Given the description of an element on the screen output the (x, y) to click on. 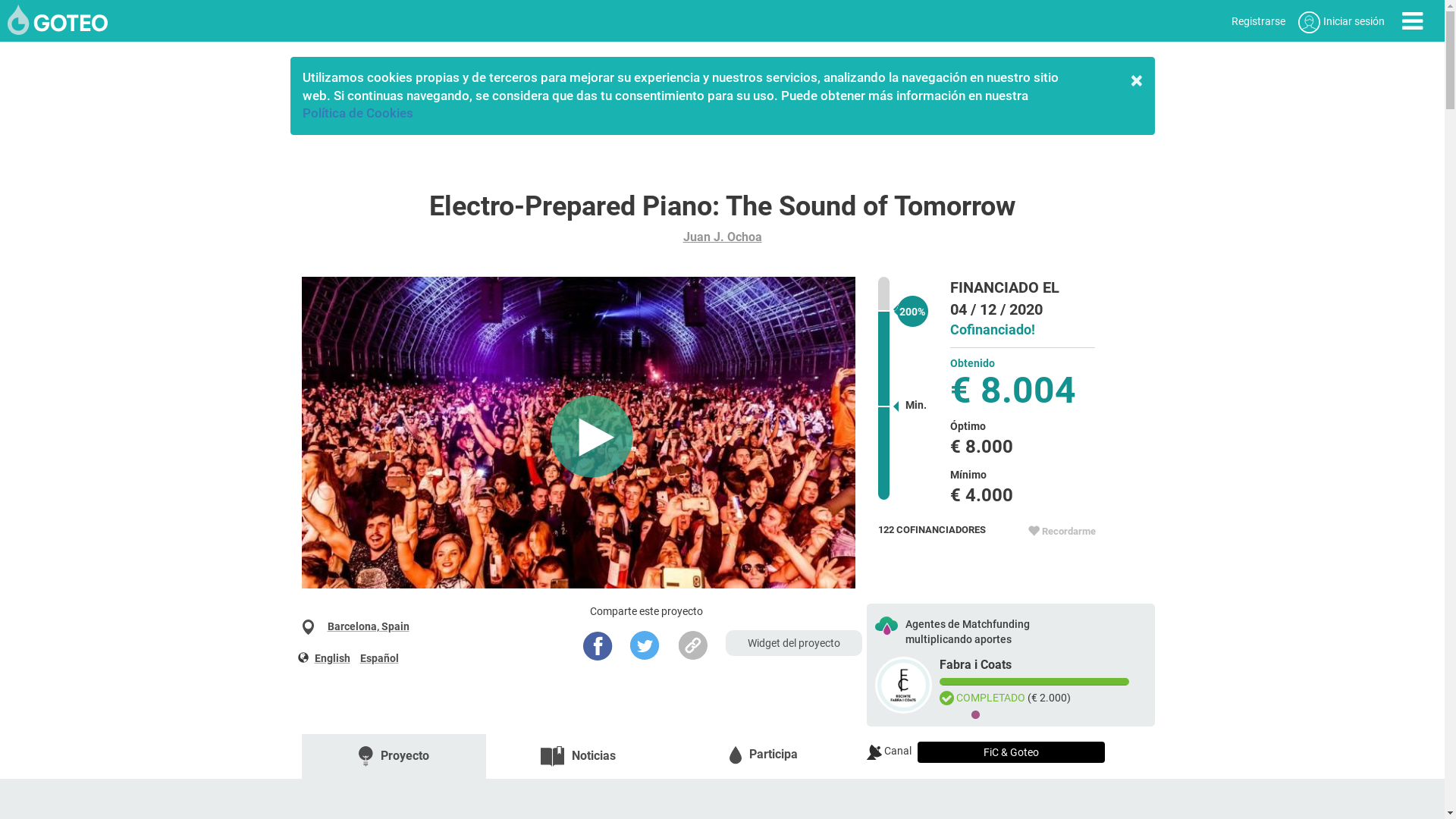
Registrarse Element type: text (1257, 20)
1 Element type: text (975, 714)
FiC & Goteo Element type: text (1010, 751)
Main menu Element type: hover (1412, 20)
English Element type: text (331, 658)
Juan J. Ochoa Element type: text (721, 236)
Widget del proyecto Element type: text (793, 642)
